Given the description of an element on the screen output the (x, y) to click on. 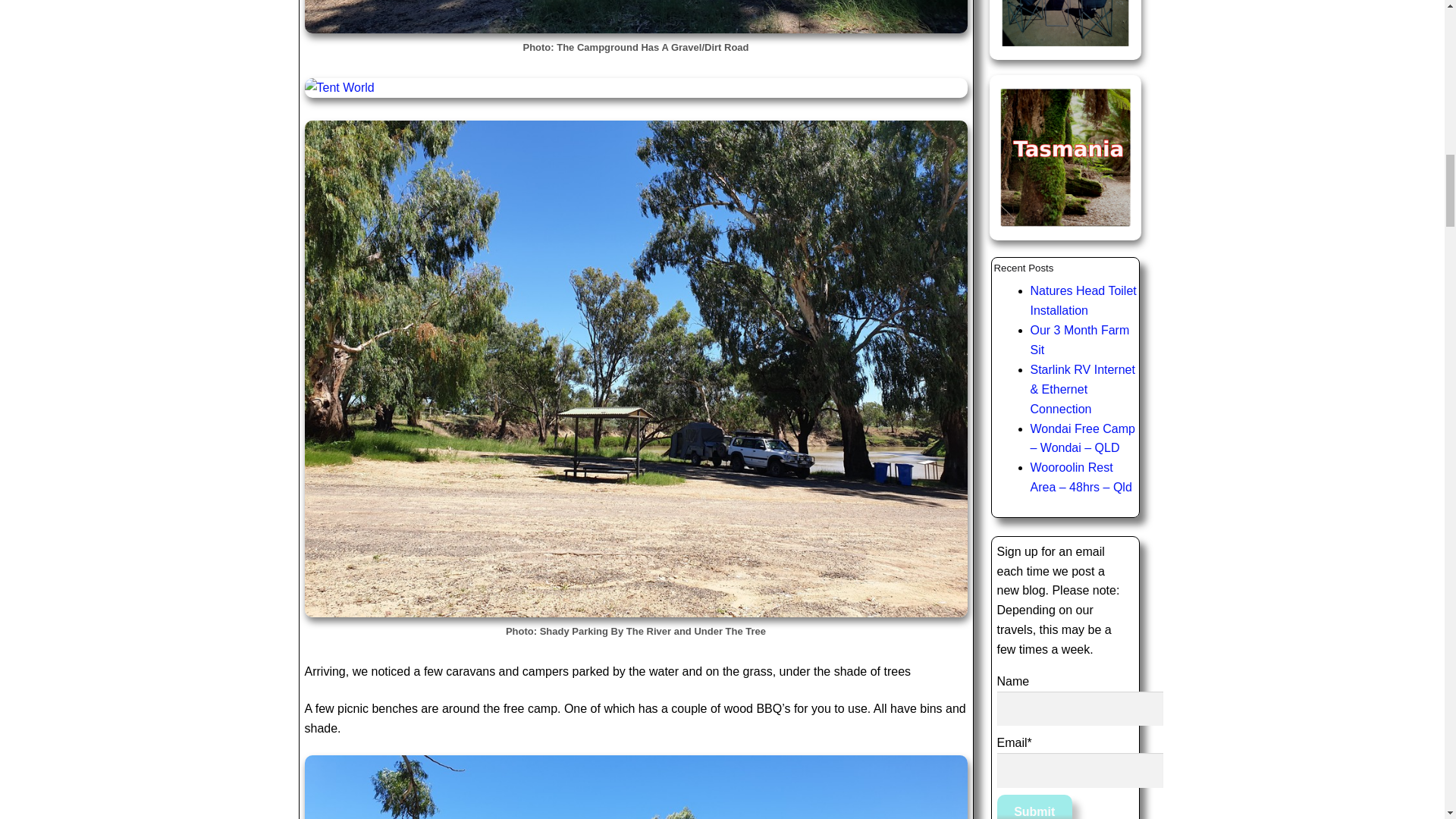
Submit (1033, 806)
